Given the description of an element on the screen output the (x, y) to click on. 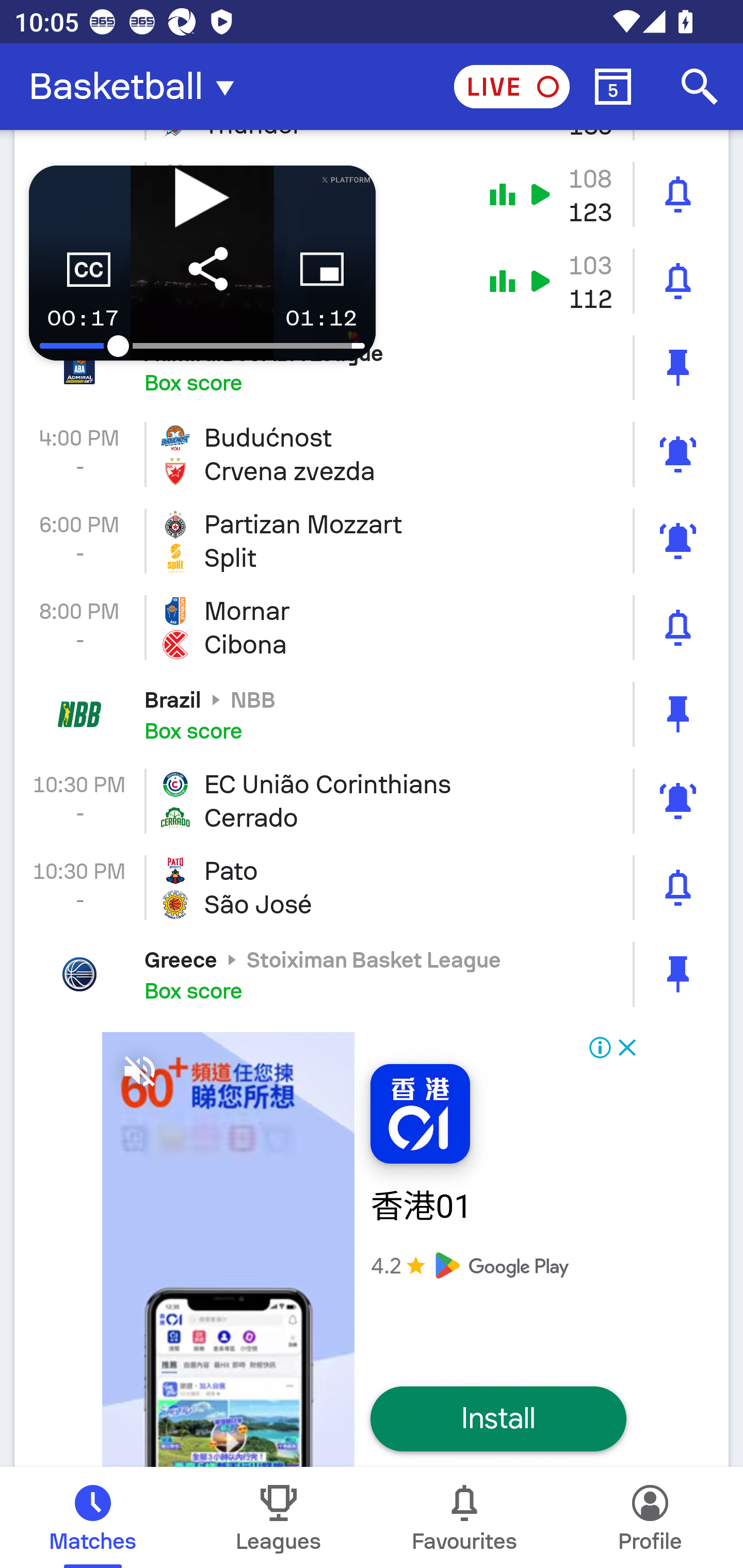
Basketball (137, 86)
Calendar (612, 86)
Search (699, 86)
4:00 PM - Budućnost Crvena zvezda (371, 453)
6:00 PM - Partizan Mozzart Split (371, 540)
8:00 PM - Mornar Cibona (371, 627)
Brazil NBB Box score (371, 714)
10:30 PM - EC União Corinthians Cerrado (371, 800)
10:30 PM - Pato São José (371, 887)
Greece Stoiximan Basket League Box score (371, 974)
香港01 4.2 Install Install (371, 1242)
Install (498, 1418)
Leagues (278, 1517)
Favourites (464, 1517)
Profile (650, 1517)
